Given the description of an element on the screen output the (x, y) to click on. 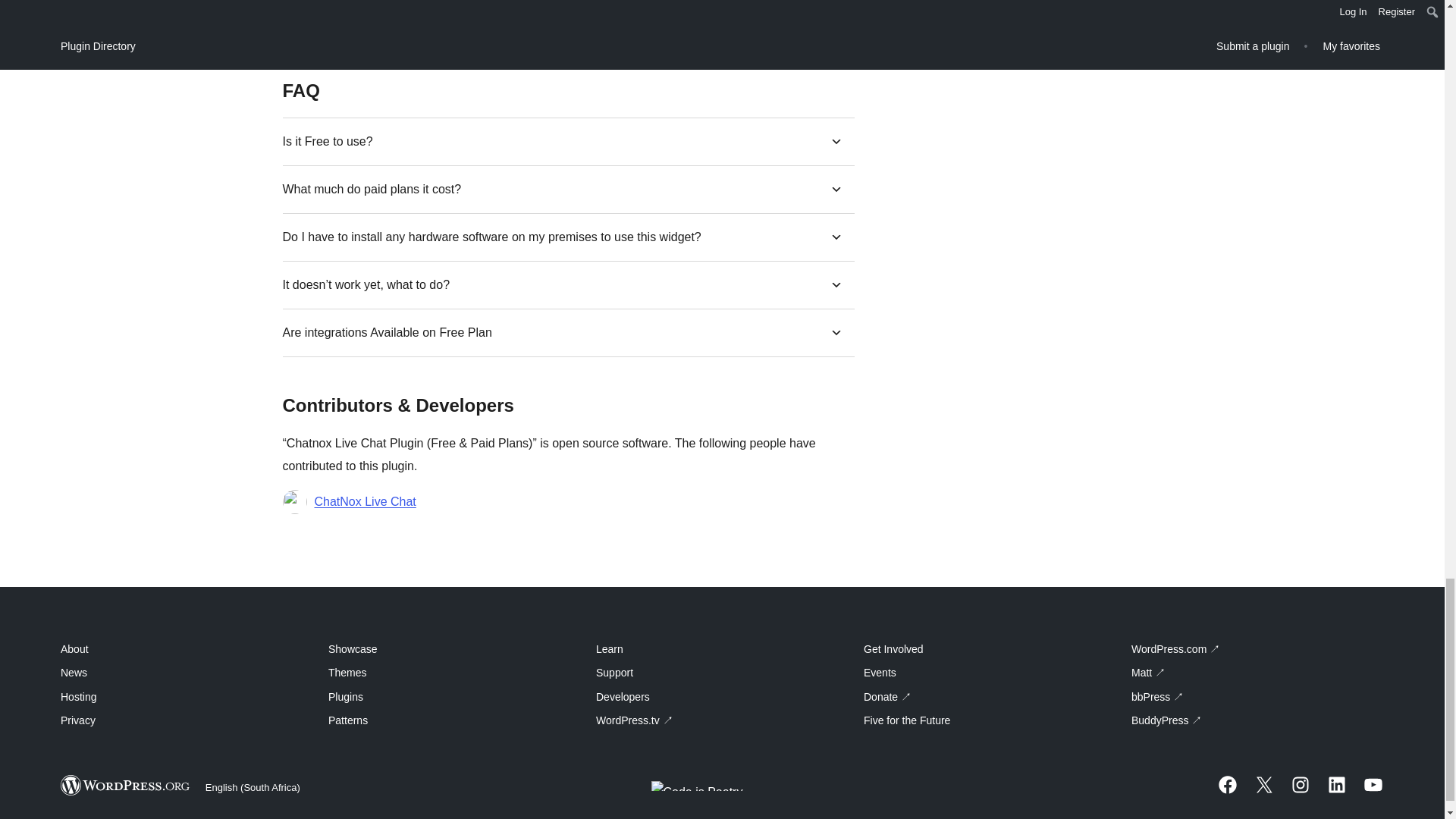
WordPress.org (125, 784)
